Given the description of an element on the screen output the (x, y) to click on. 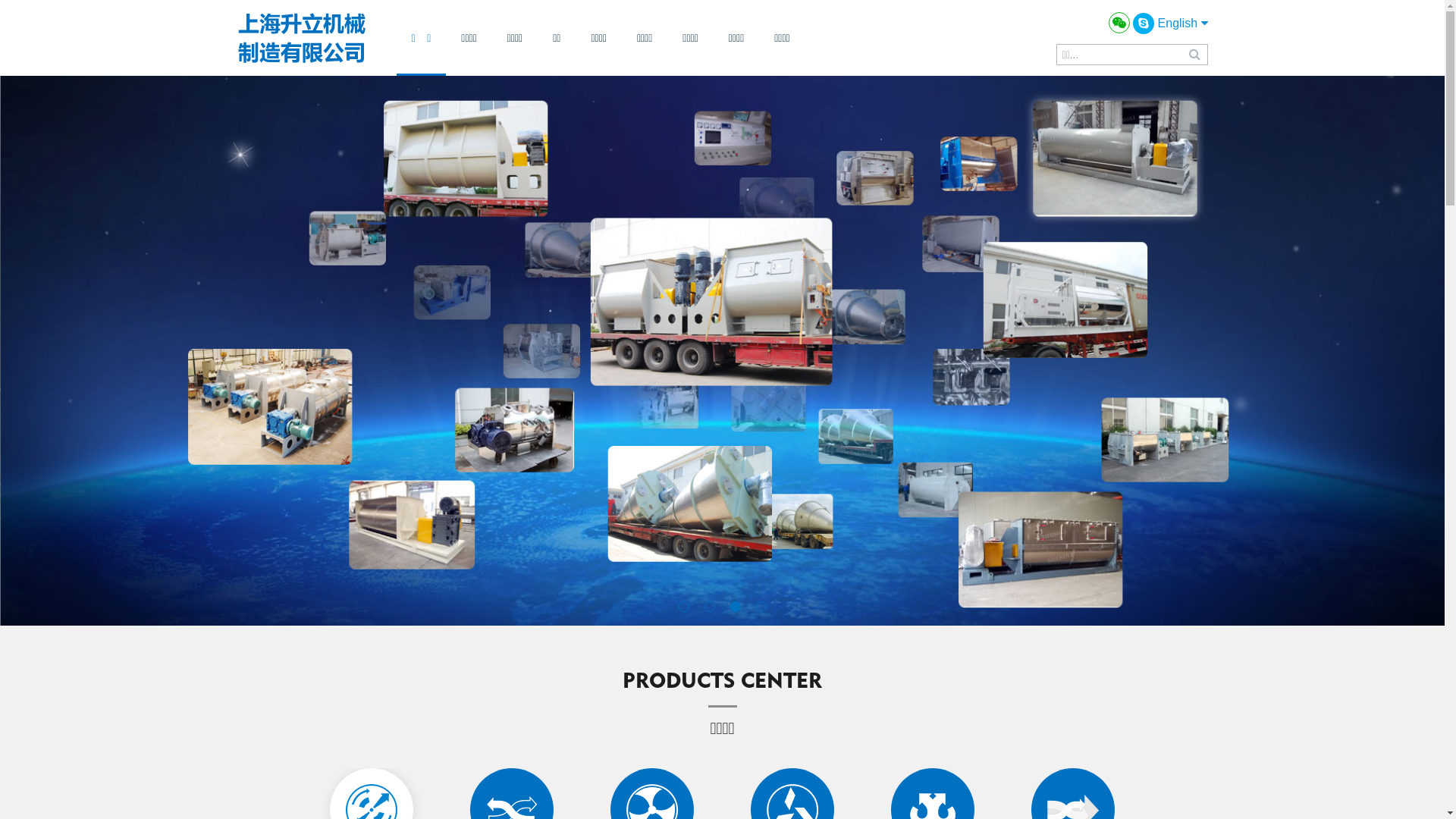
English Element type: text (1182, 22)
